Given the description of an element on the screen output the (x, y) to click on. 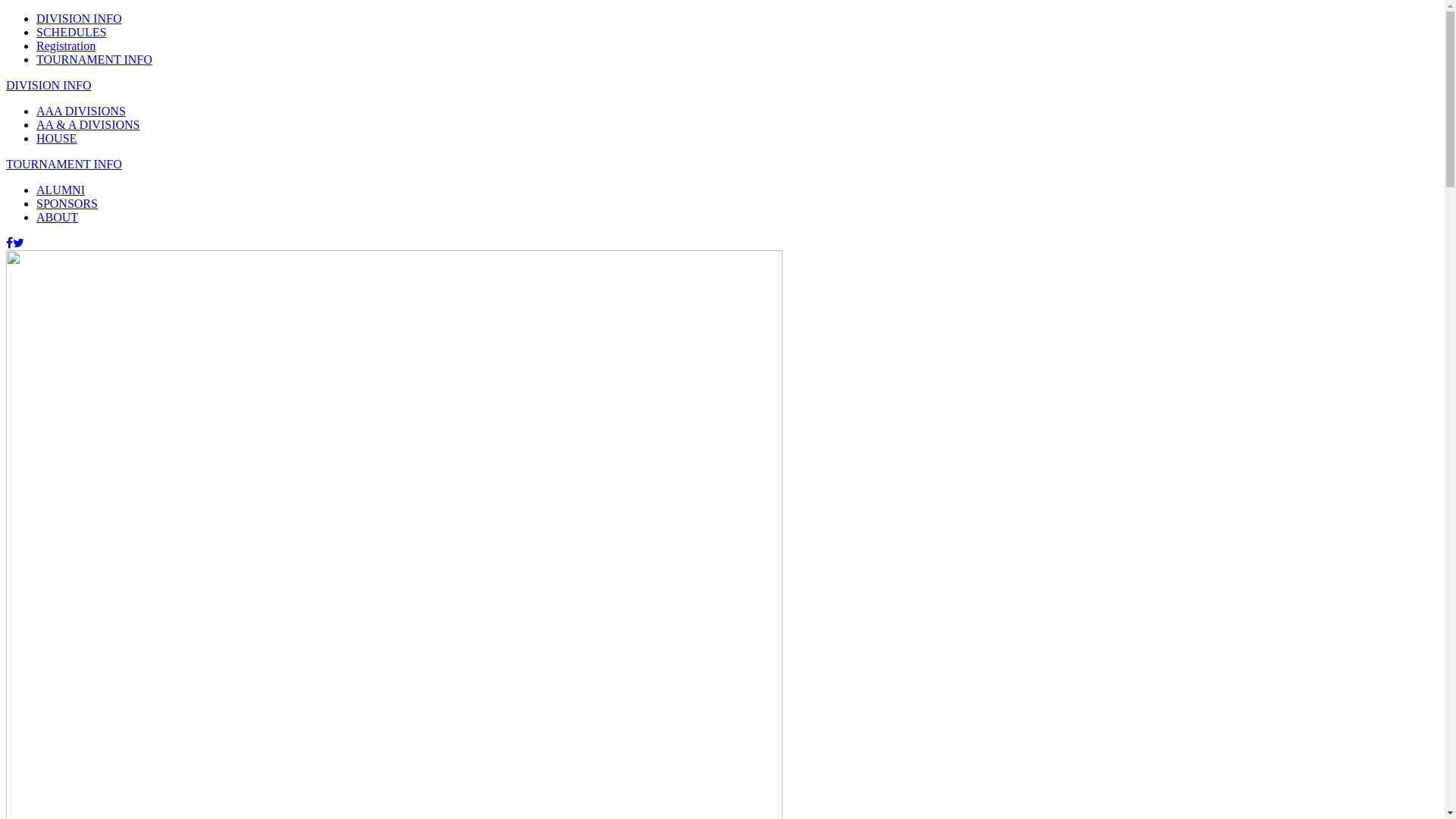
DIVISION INFO Element type: text (78, 18)
AA & A DIVISIONS Element type: text (87, 124)
SCHEDULES Element type: text (71, 31)
HOUSE Element type: text (56, 137)
twitter Element type: hover (18, 242)
SPONSORS Element type: text (66, 203)
TOURNAMENT INFO Element type: text (64, 163)
AAA DIVISIONS Element type: text (80, 110)
DIVISION INFO Element type: text (48, 84)
Registration Element type: text (65, 45)
facebook Element type: hover (9, 242)
ABOUT Element type: text (57, 216)
TOURNAMENT INFO Element type: text (94, 59)
ALUMNI Element type: text (60, 189)
